Given the description of an element on the screen output the (x, y) to click on. 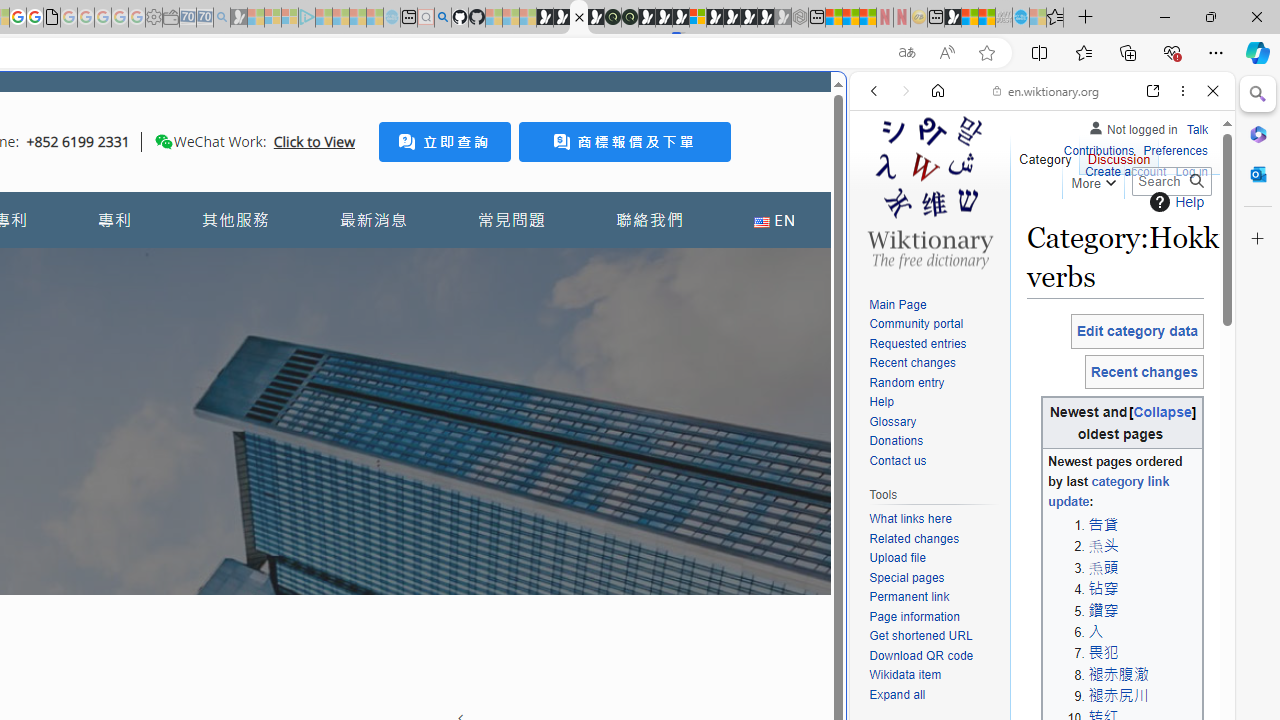
Wiktionary (1034, 669)
Community portal (934, 324)
